Given the description of an element on the screen output the (x, y) to click on. 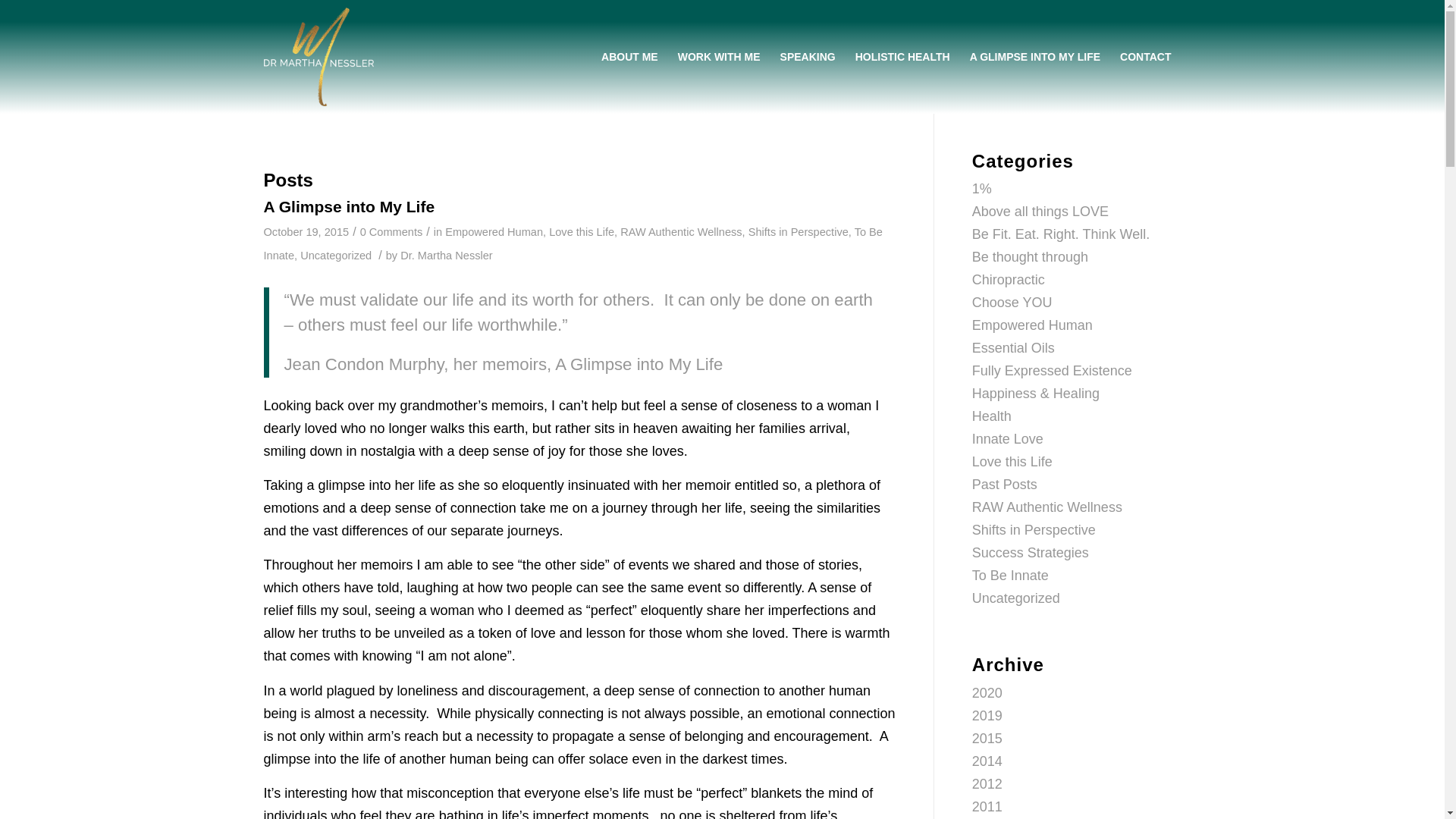
Dr. Martha Nessler (446, 255)
Essential Oils (1013, 347)
Innate Love (1007, 438)
Shifts in Perspective (798, 232)
RAW Authentic Wellness (680, 232)
A GLIMPSE INTO MY LIFE (1034, 56)
Be Fit. Eat. Right. Think Well. (1061, 233)
Permanent Link: A Glimpse into My Life (349, 206)
Love this Life (1012, 461)
Empowered Human (494, 232)
